Given the description of an element on the screen output the (x, y) to click on. 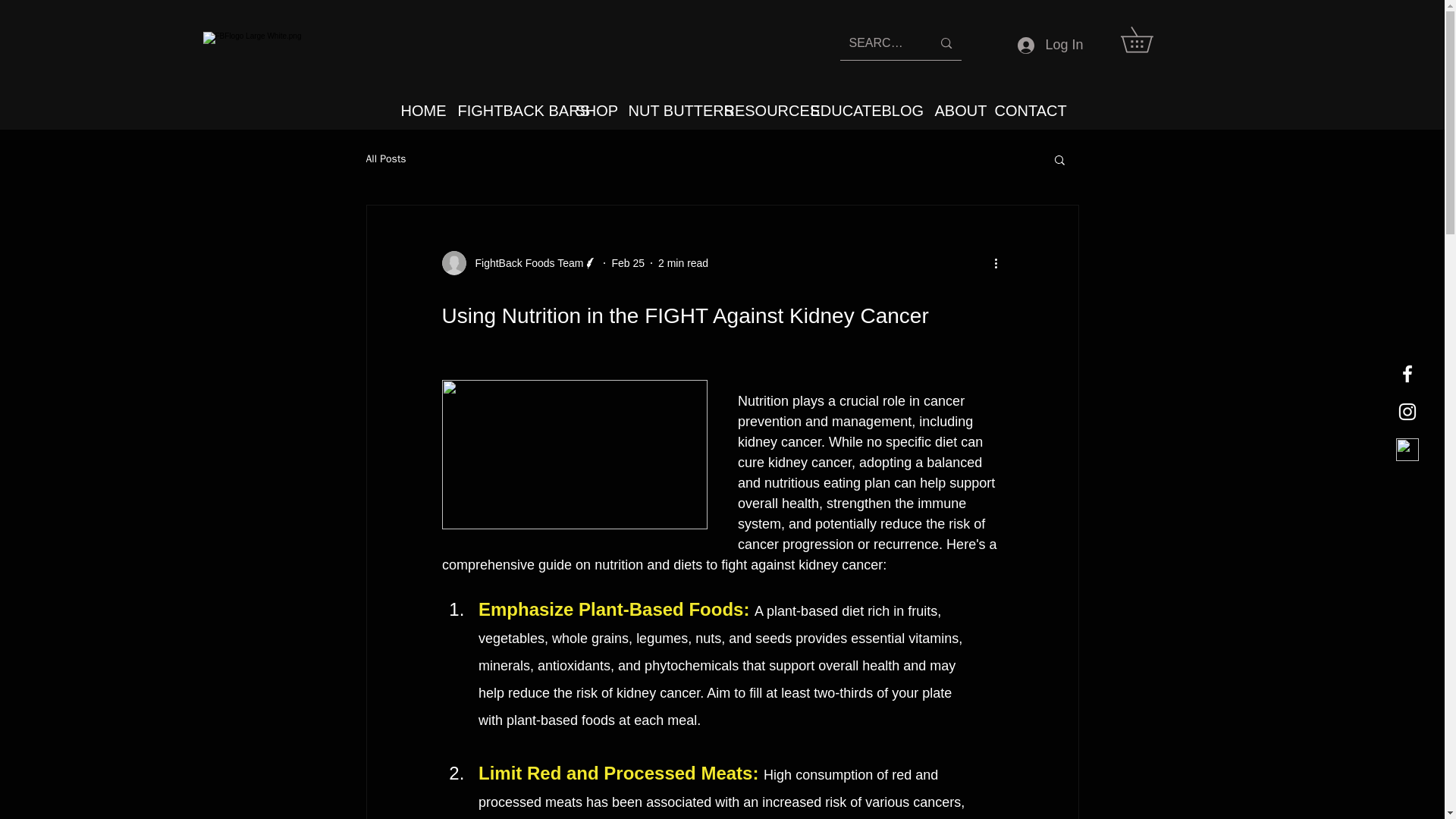
RESOURCES (756, 110)
Log In (1050, 44)
FightBack Foods Team (524, 262)
HOME (418, 110)
ABOUT (953, 110)
NUT BUTTERS (665, 110)
FightBack Foods Team (518, 262)
FIGHTBACK BARS (504, 110)
All Posts (385, 159)
EDUCATE (834, 110)
2 min read (682, 262)
Feb 25 (628, 262)
CONTACT (1018, 110)
